Given the description of an element on the screen output the (x, y) to click on. 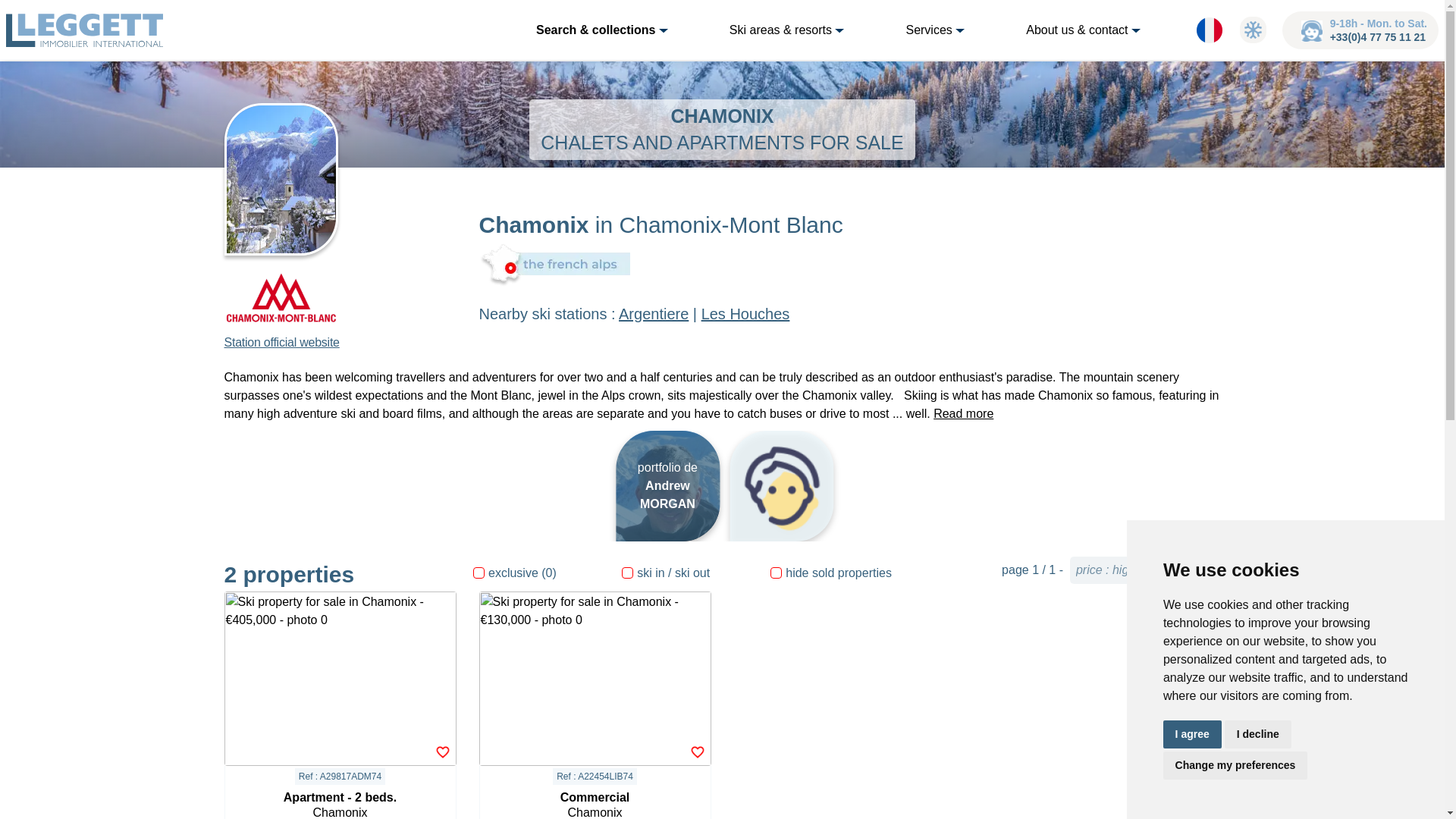
I agree (1192, 734)
Change my preferences (1235, 765)
I decline (1257, 734)
exclusivity (478, 572)
notSold (775, 572)
skiIn (627, 572)
Services (942, 29)
